Given the description of an element on the screen output the (x, y) to click on. 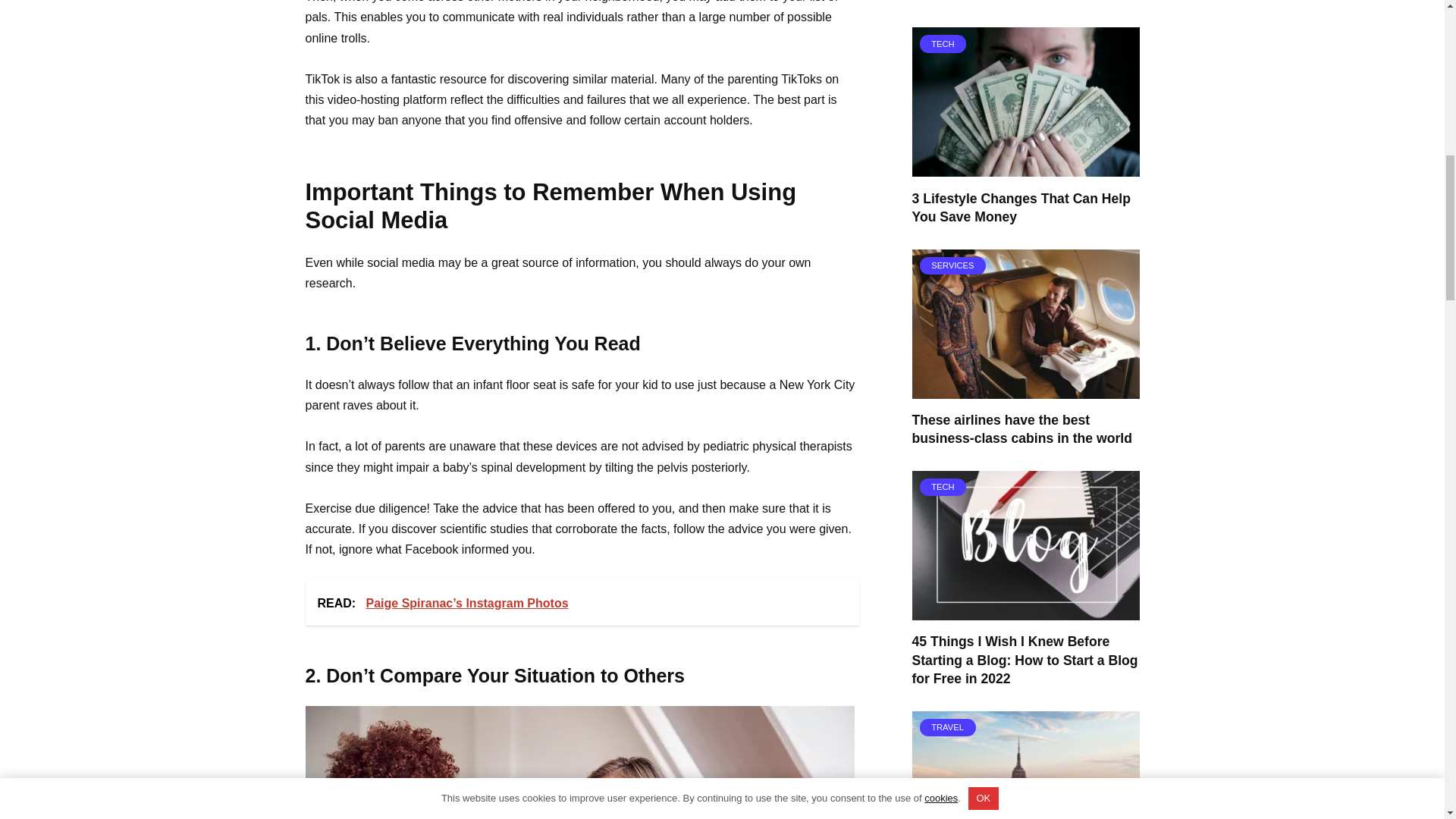
3 Lifestyle Changes That Can Help You Save Money (1020, 207)
SERVICES (1024, 388)
TECH (1024, 166)
TECH (1024, 610)
